Given the description of an element on the screen output the (x, y) to click on. 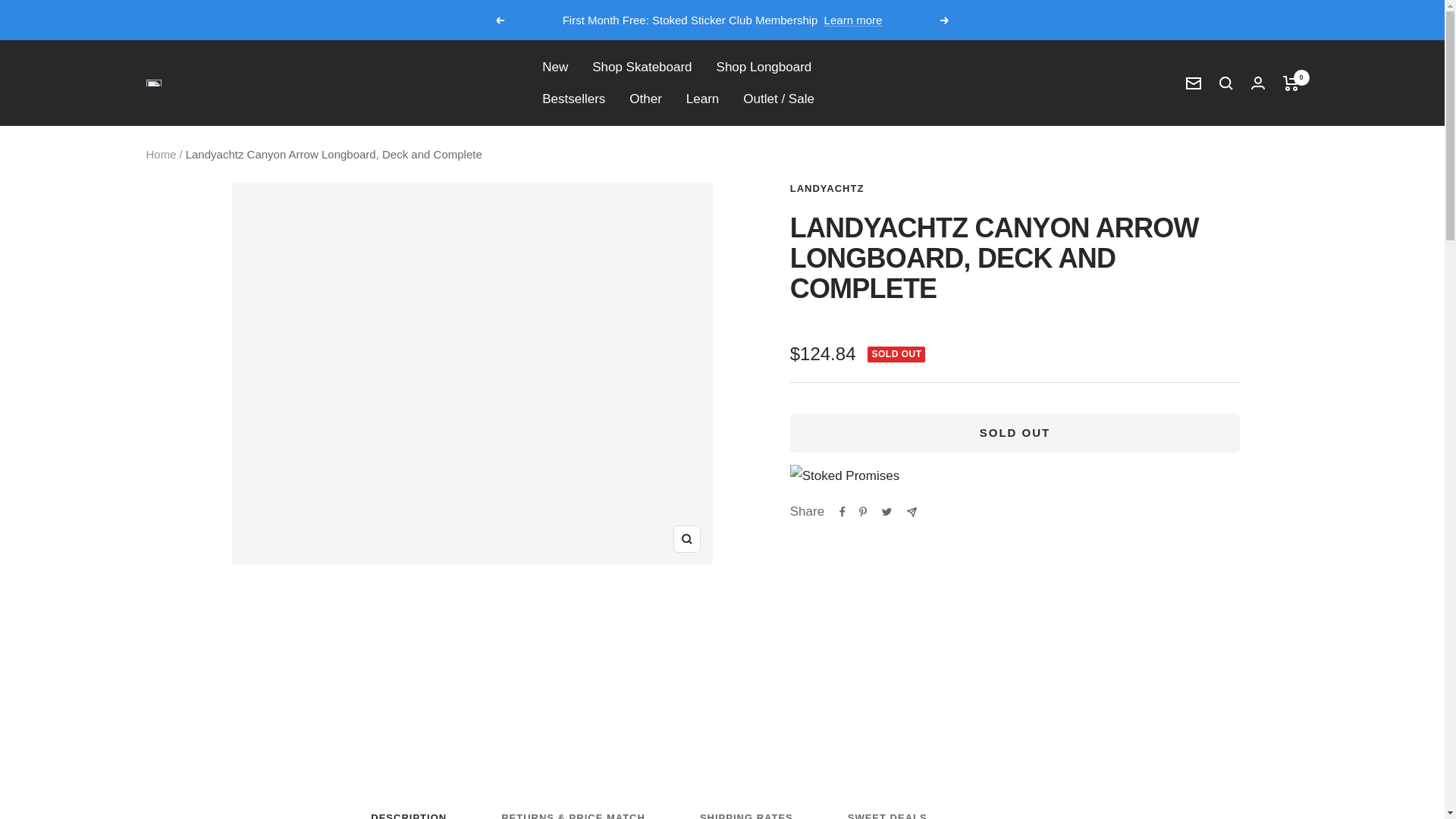
Other (645, 98)
0 (1290, 83)
Newsletter (1193, 82)
Shop Longboard (764, 66)
Learn more (853, 19)
Next (944, 20)
Bestsellers (573, 98)
Shop Skateboard (641, 66)
Learn (702, 98)
Previous (499, 20)
